Given the description of an element on the screen output the (x, y) to click on. 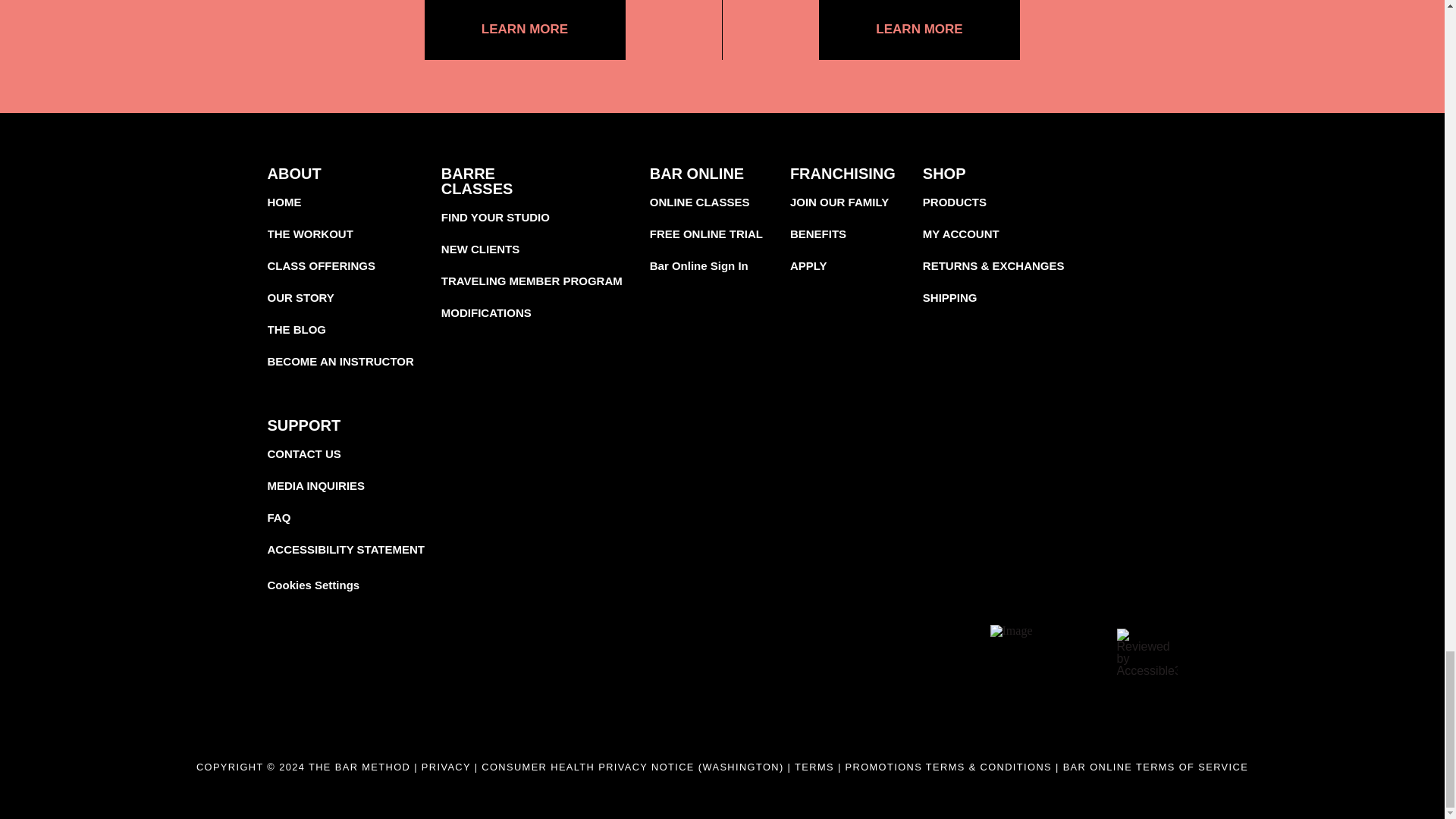
LEARN MORE (919, 29)
LEARN MORE (525, 29)
